Given the description of an element on the screen output the (x, y) to click on. 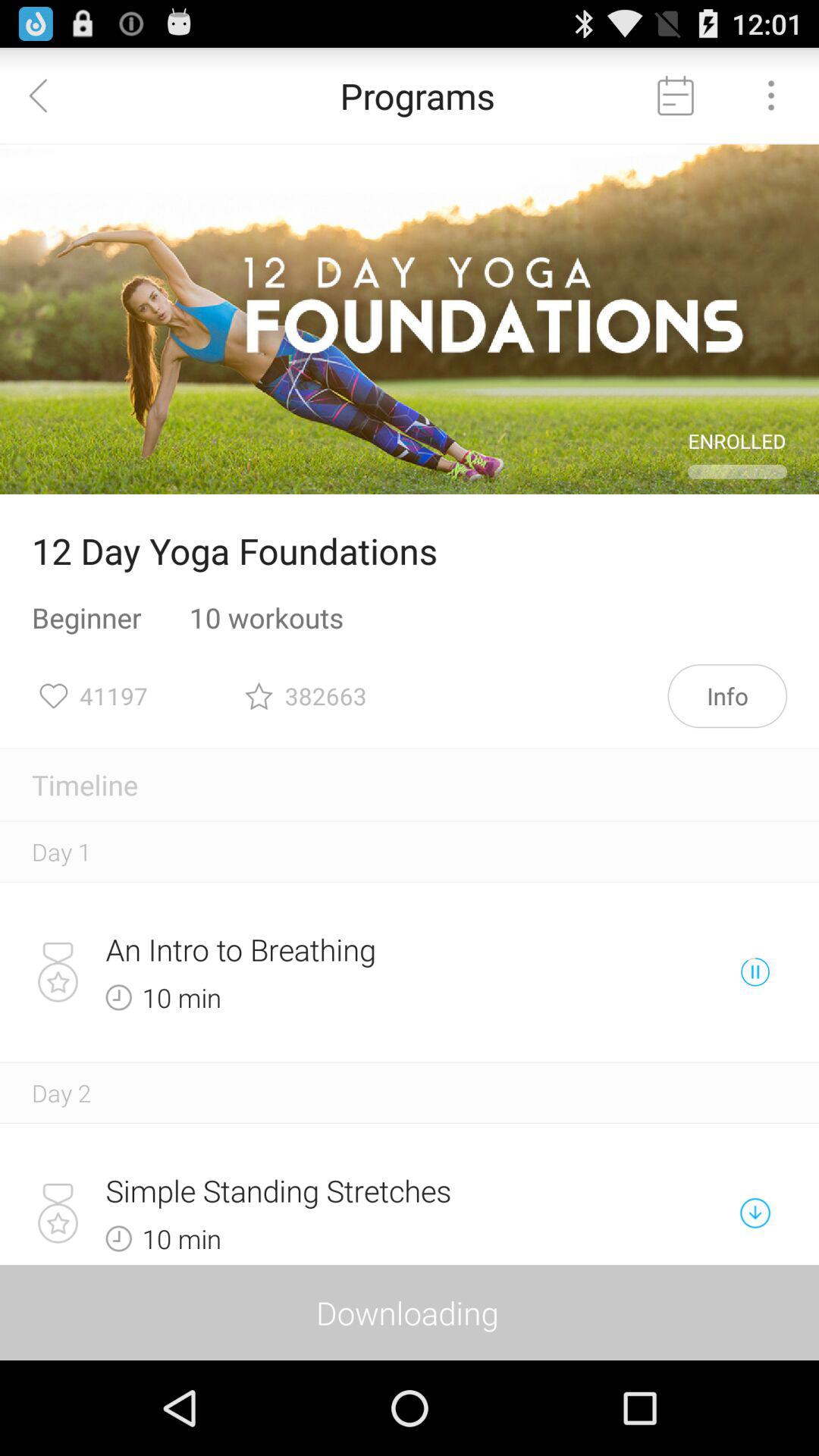
flip until an intro to item (356, 949)
